Given the description of an element on the screen output the (x, y) to click on. 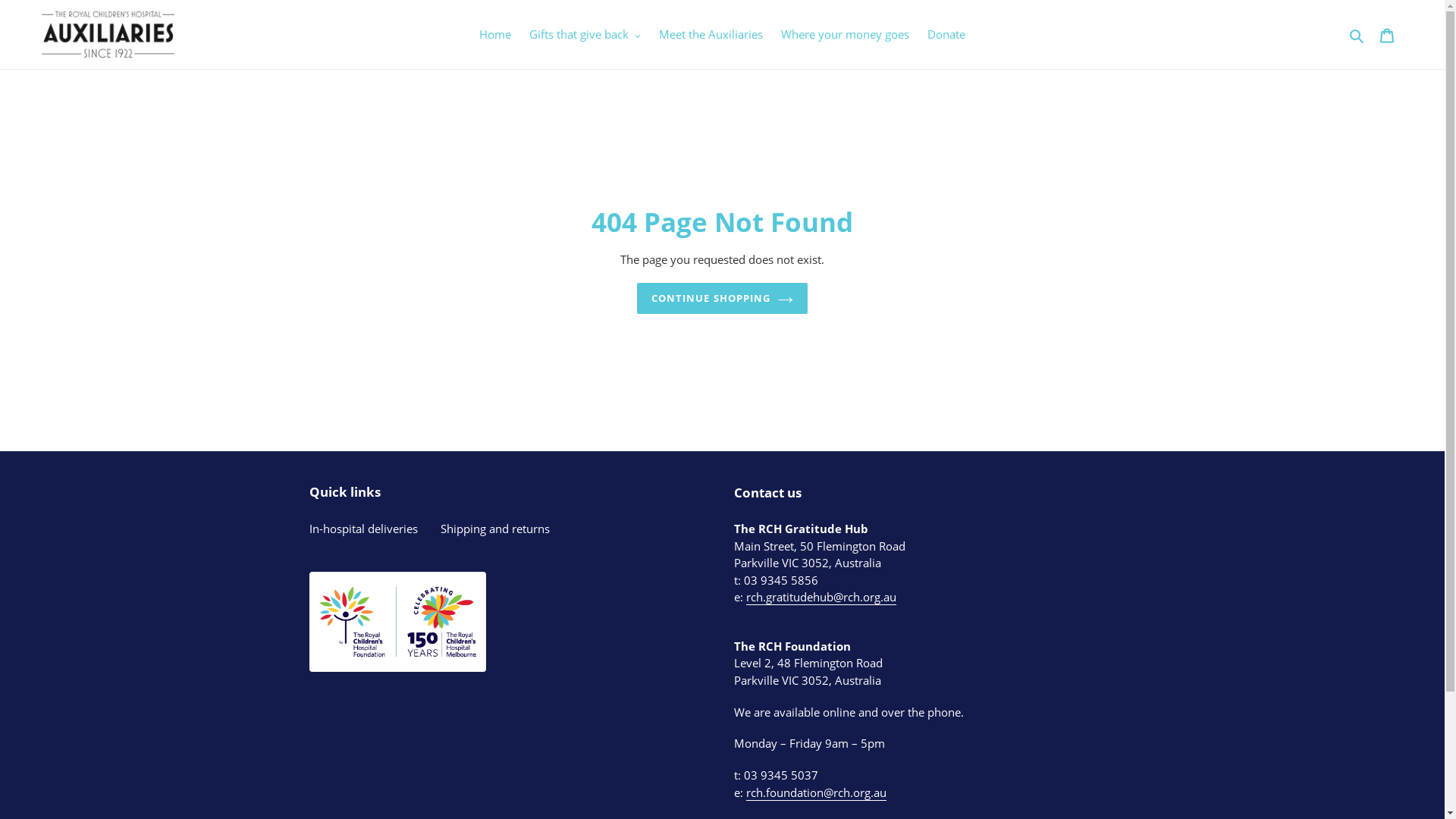
Gifts that give back Element type: text (584, 34)
Shipping and returns Element type: text (494, 528)
Meet the Auxiliaries Element type: text (710, 34)
Cart Element type: text (1386, 34)
In-hospital deliveries Element type: text (363, 528)
rch.gratitudehub@rch.org.au Element type: text (821, 597)
Donate Element type: text (945, 34)
Where your money goes Element type: text (844, 34)
CONTINUE SHOPPING Element type: text (722, 299)
Search Element type: text (1357, 34)
Home Element type: text (494, 34)
rch.foundation@rch.org.au Element type: text (816, 792)
